Given the description of an element on the screen output the (x, y) to click on. 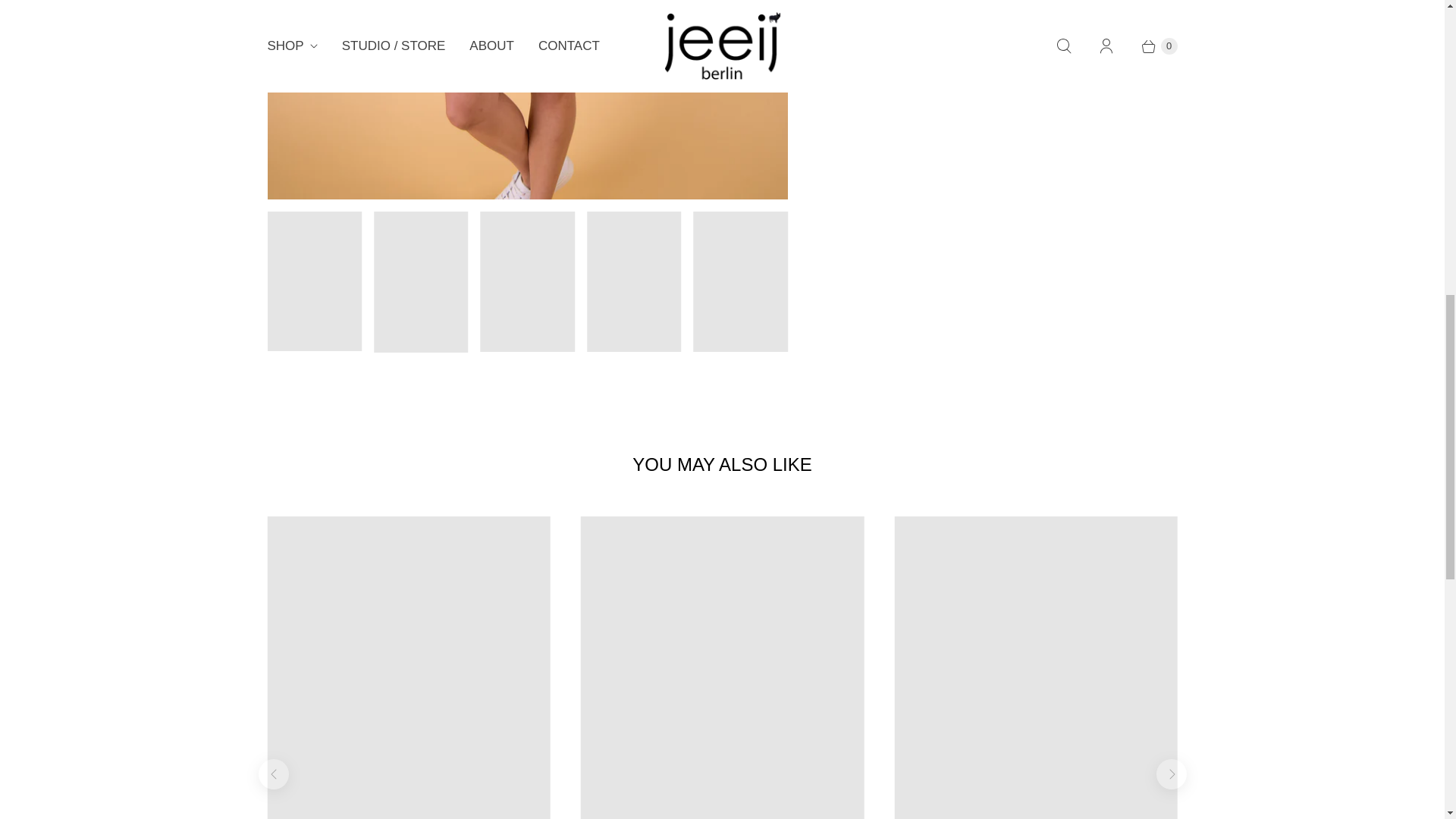
Edgedcollar jacket navy (133, 99)
Edgedcollar jacket navy (526, 99)
